Given the description of an element on the screen output the (x, y) to click on. 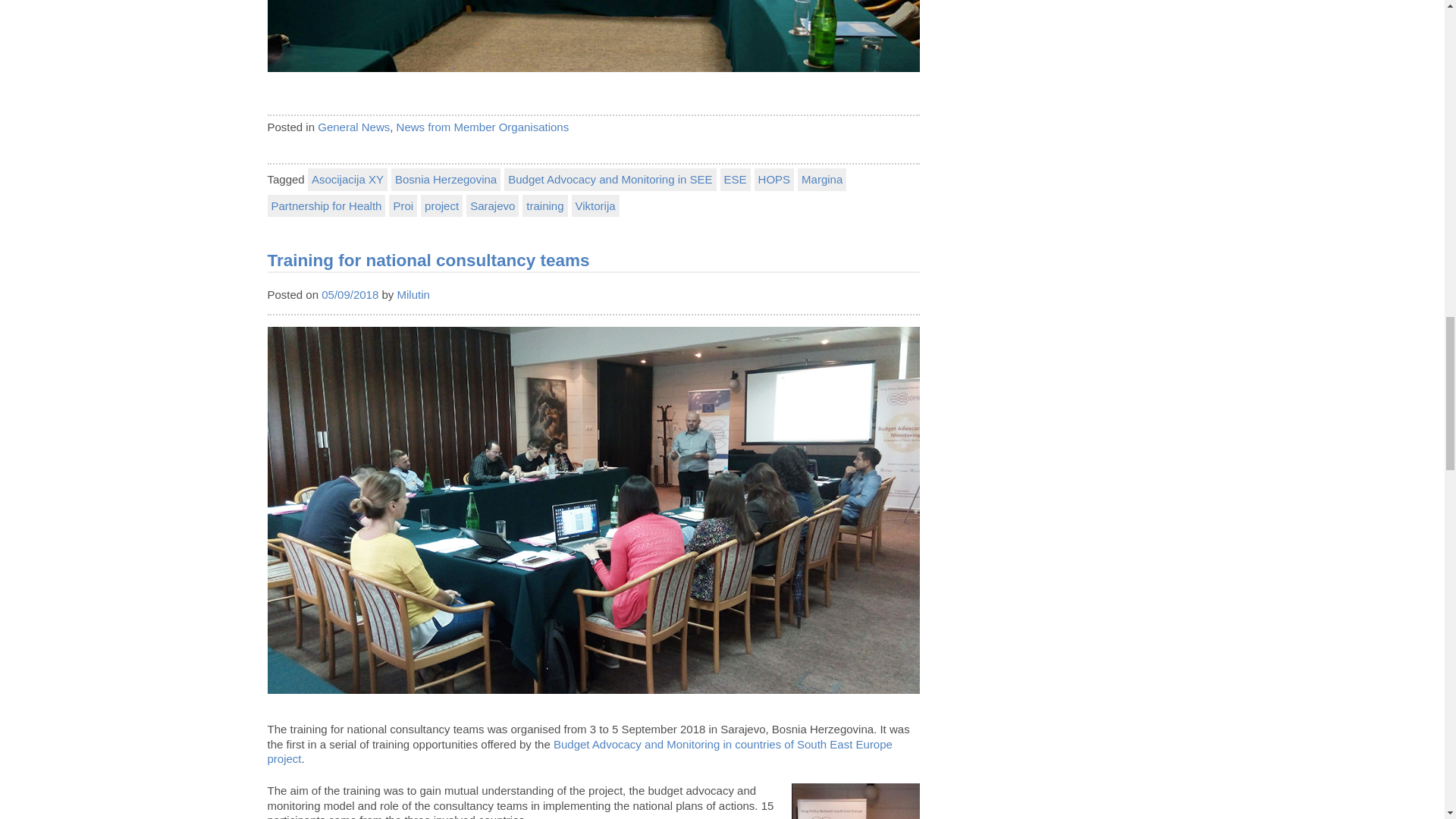
Bosnia Herzegovina (445, 179)
Asocijacija XY (347, 179)
General News (353, 126)
News from Member Organisations (482, 126)
